Given the description of an element on the screen output the (x, y) to click on. 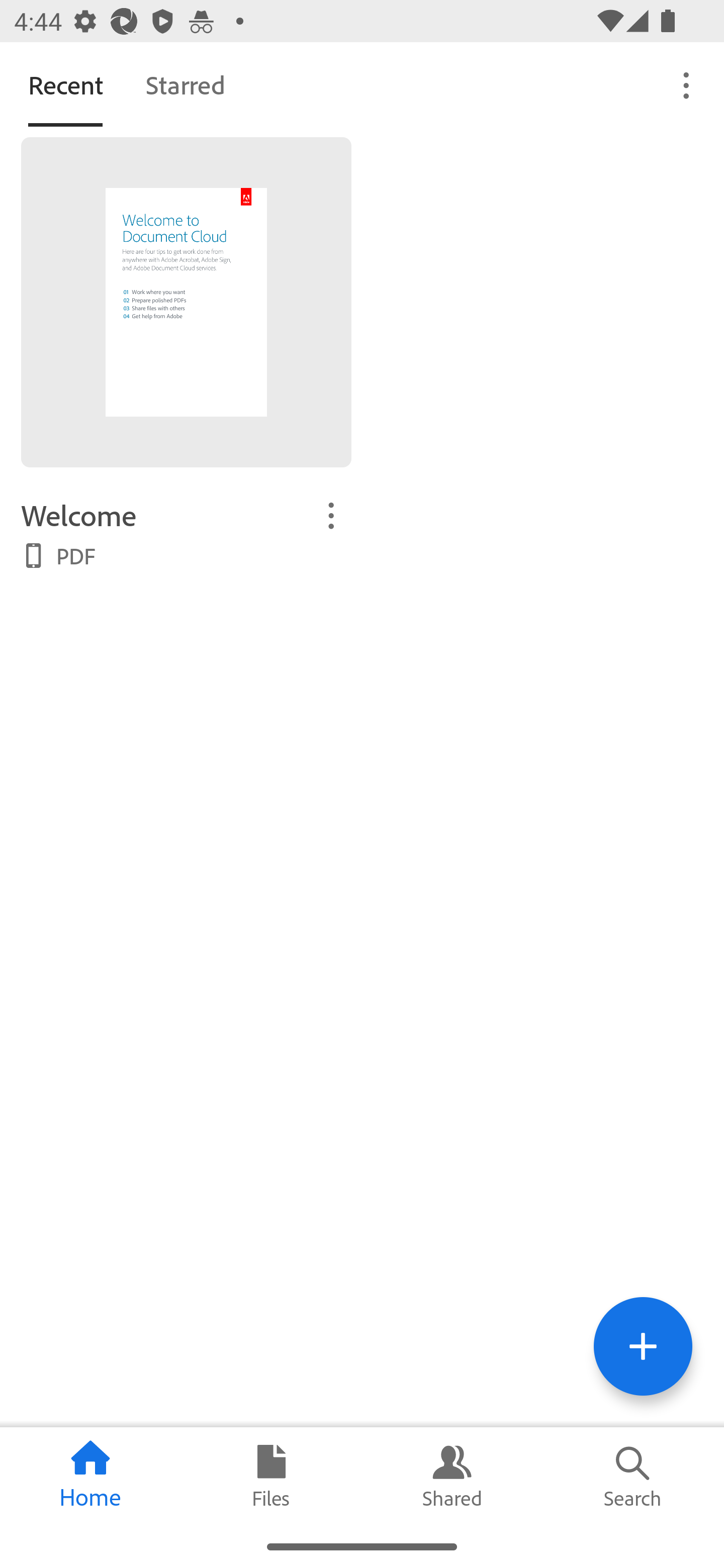
Recent (65, 84)
Starred (185, 84)
Overflow (687, 84)
Welcome.pdf (185, 302)
Welcome Stored On This Device PDF Overflow (185, 532)
Tools (642, 1345)
Home (90, 1475)
Files (271, 1475)
Shared (452, 1475)
Search (633, 1475)
